Given the description of an element on the screen output the (x, y) to click on. 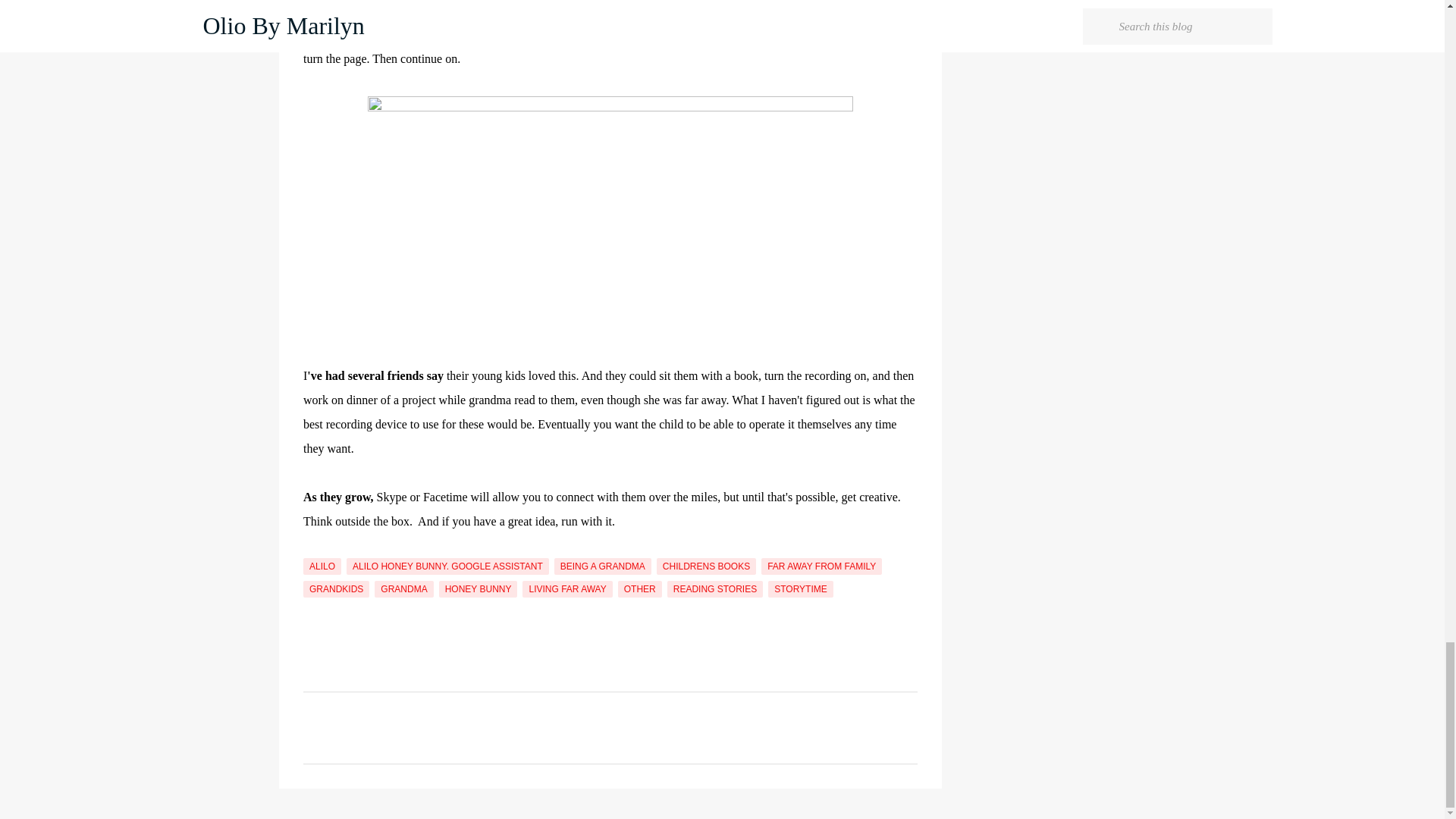
ALILO HONEY BUNNY. GOOGLE ASSISTANT (447, 565)
Email Post (311, 548)
GRANDKIDS (335, 588)
OTHER (639, 588)
BEING A GRANDMA (602, 565)
HONEY BUNNY (478, 588)
READING STORIES (714, 588)
FAR AWAY FROM FAMILY (821, 565)
GRANDMA (403, 588)
CHILDRENS BOOKS (705, 565)
LIVING FAR AWAY (566, 588)
ALILO (321, 565)
STORYTIME (800, 588)
